Given the description of an element on the screen output the (x, y) to click on. 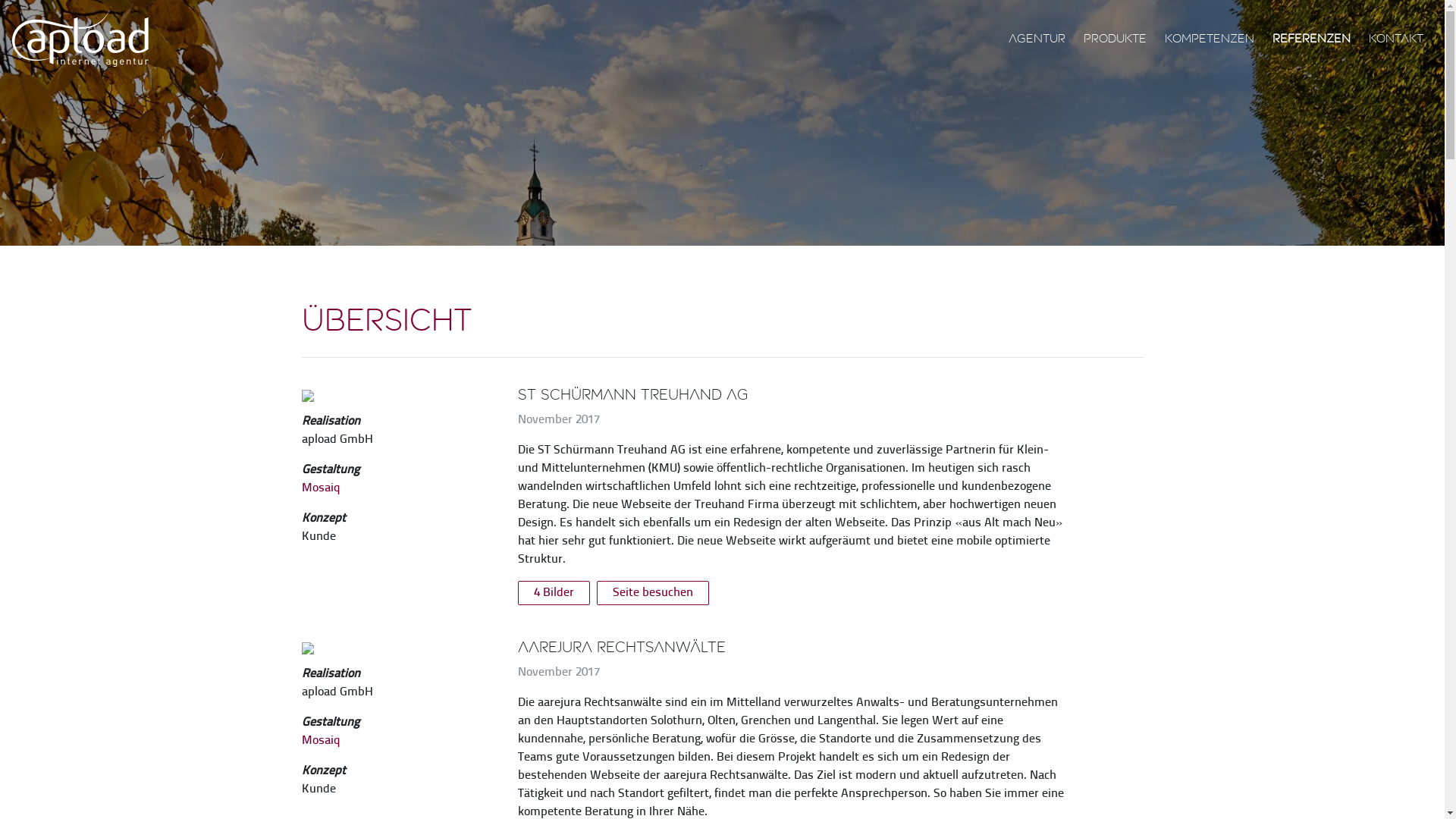
Mosaiq Element type: text (320, 740)
Seite besuchen Element type: text (652, 592)
Produkte Element type: text (1114, 39)
Referenzen Element type: text (1311, 39)
Kompetenzen Element type: text (1209, 39)
Agentur Element type: text (1036, 39)
Kontakt Element type: text (1395, 39)
Mosaiq Element type: text (320, 488)
